Given the description of an element on the screen output the (x, y) to click on. 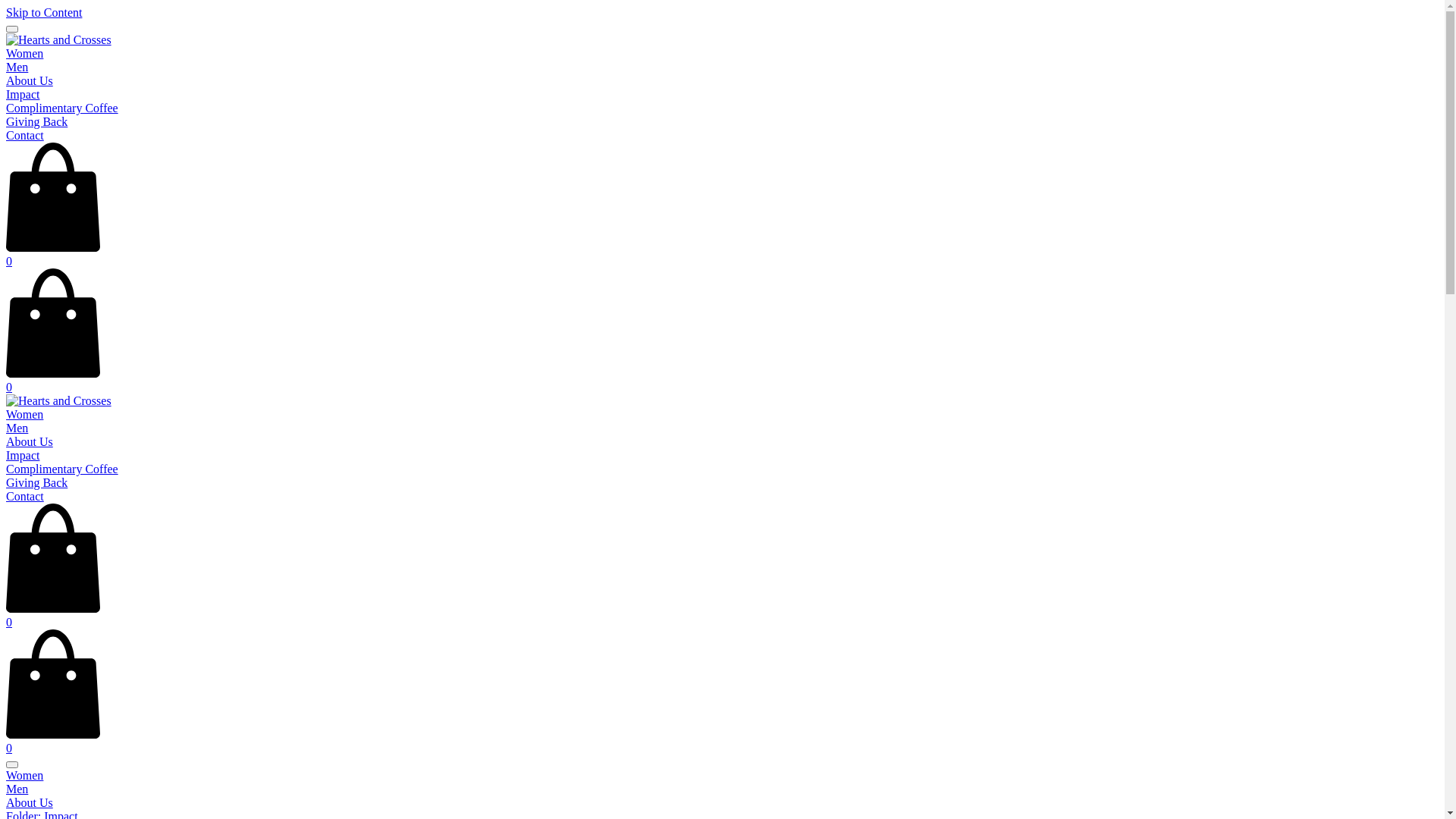
Giving Back Element type: text (36, 121)
Impact Element type: text (22, 93)
About Us Element type: text (29, 441)
About Us Element type: text (722, 802)
Women Element type: text (24, 413)
0 Element type: text (722, 741)
Impact Element type: text (22, 454)
Women Element type: text (24, 53)
About Us Element type: text (29, 80)
0 Element type: text (722, 254)
Contact Element type: text (24, 495)
Men Element type: text (722, 789)
Complimentary Coffee Element type: text (62, 468)
0 Element type: text (722, 380)
Men Element type: text (17, 66)
Women Element type: text (722, 775)
Complimentary Coffee Element type: text (62, 107)
Men Element type: text (17, 427)
Skip to Content Element type: text (43, 12)
Giving Back Element type: text (36, 482)
0 Element type: text (722, 615)
Contact Element type: text (24, 134)
